Given the description of an element on the screen output the (x, y) to click on. 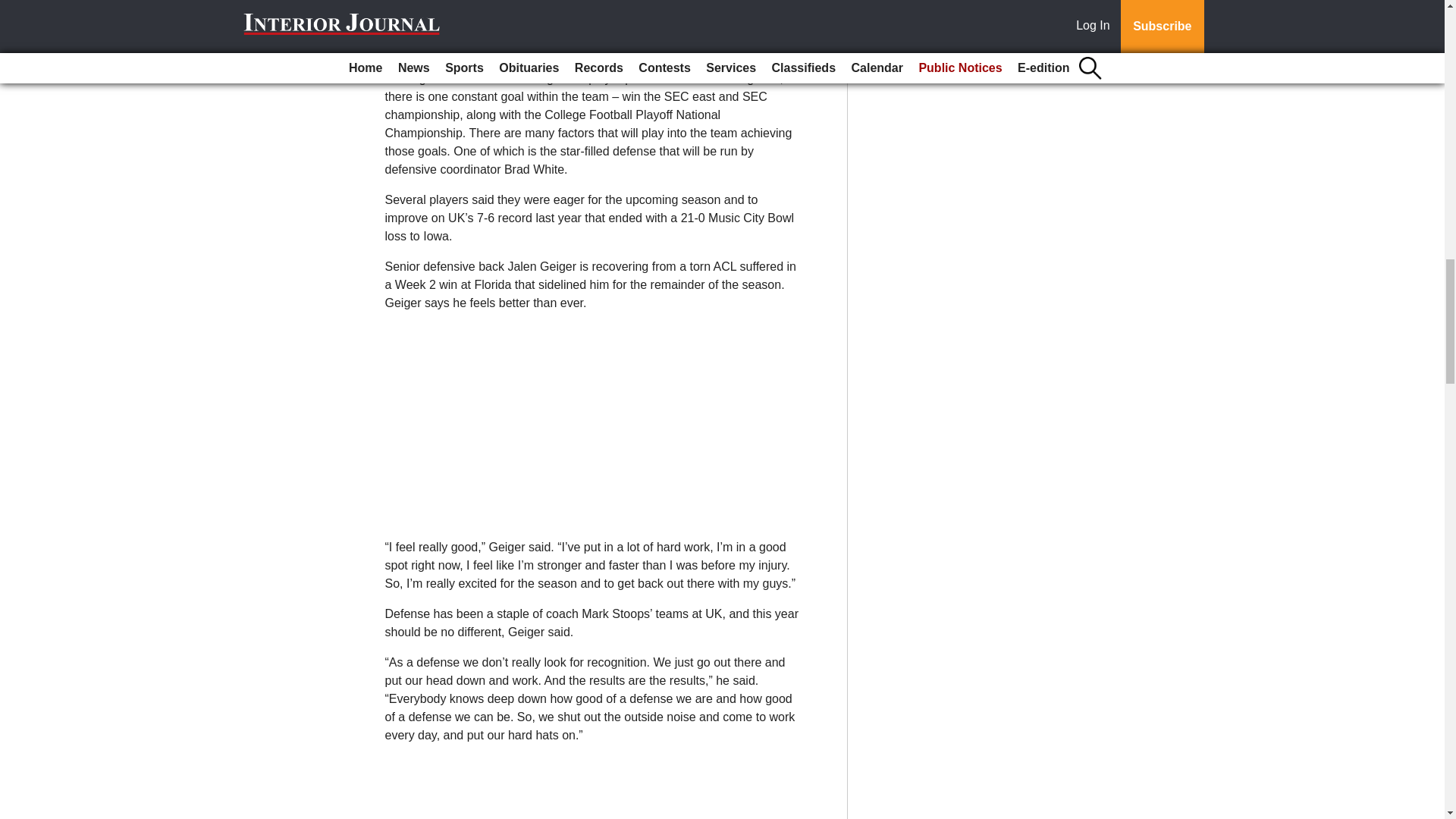
Subscribe (434, 28)
Subscribe (434, 28)
